Given the description of an element on the screen output the (x, y) to click on. 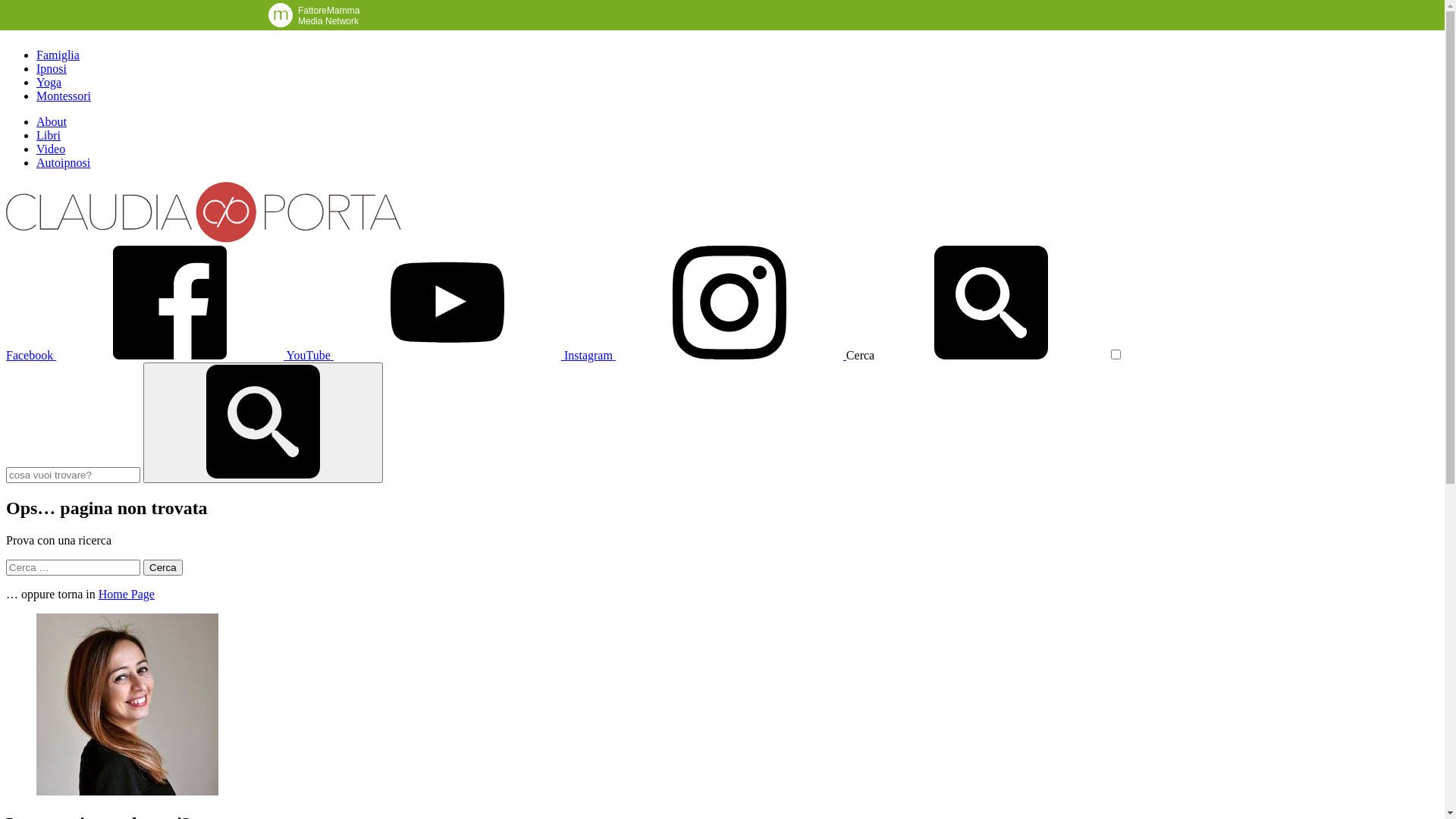
il blog di Claudia Porta Home Page Element type: hover (203, 238)
Famiglia Element type: text (57, 54)
Video Element type: text (50, 148)
About Element type: text (51, 121)
Autoipnosi Element type: text (63, 162)
Yoga Element type: text (48, 81)
Home Page Element type: text (126, 593)
Cerca Element type: text (162, 567)
Instagram Element type: text (705, 354)
Facebook Element type: text (146, 354)
Libri Element type: text (48, 134)
Montessori Element type: text (63, 95)
Ipnosi Element type: text (51, 68)
YouTube Element type: text (425, 354)
FattoreMammaMedia Network Element type: text (319, 14)
